Given the description of an element on the screen output the (x, y) to click on. 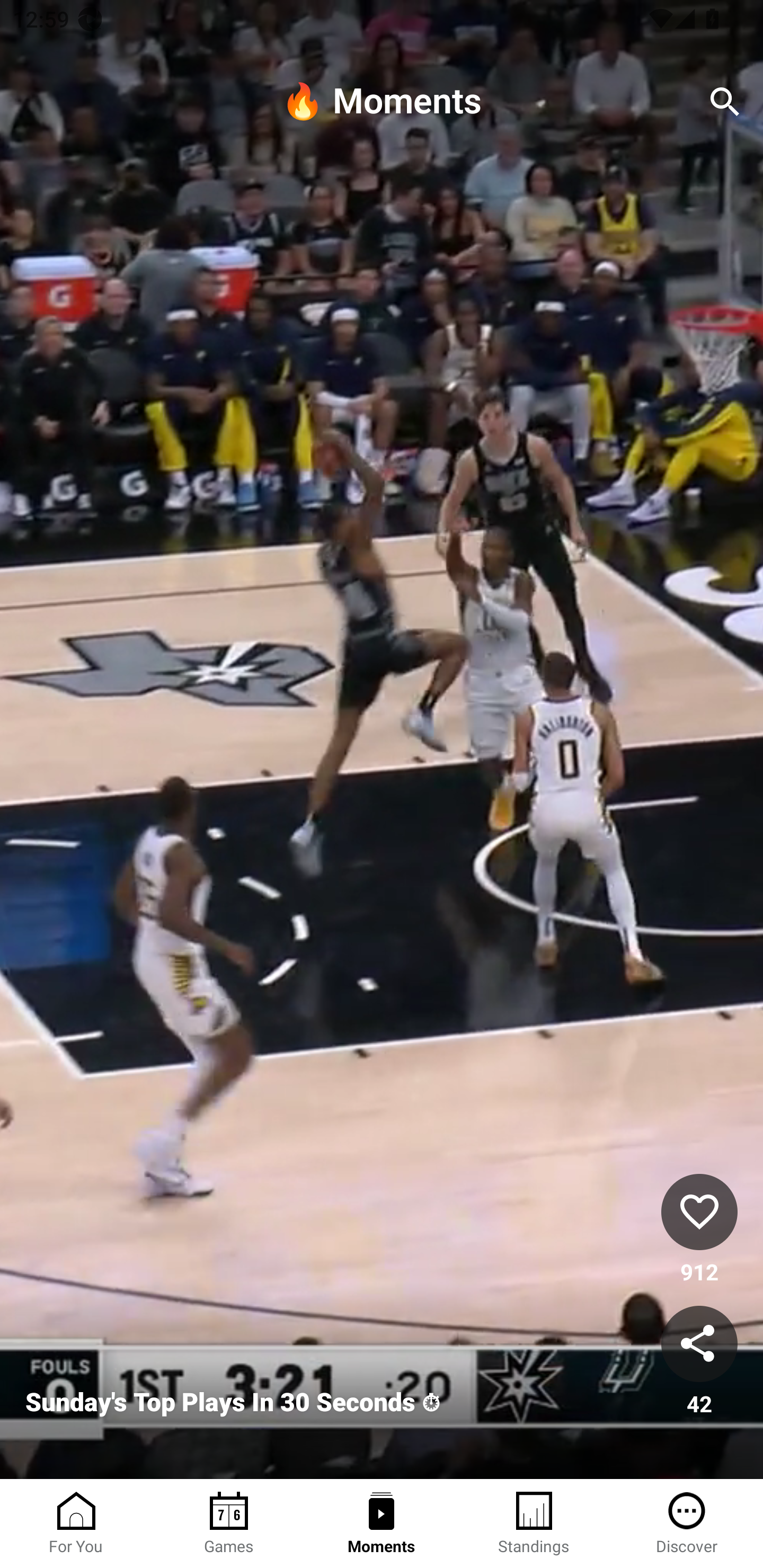
search (724, 101)
like 912 912 Likes (699, 1230)
share 42 42 Shares (699, 1362)
For You (76, 1523)
Games (228, 1523)
Standings (533, 1523)
Discover (686, 1523)
